Given the description of an element on the screen output the (x, y) to click on. 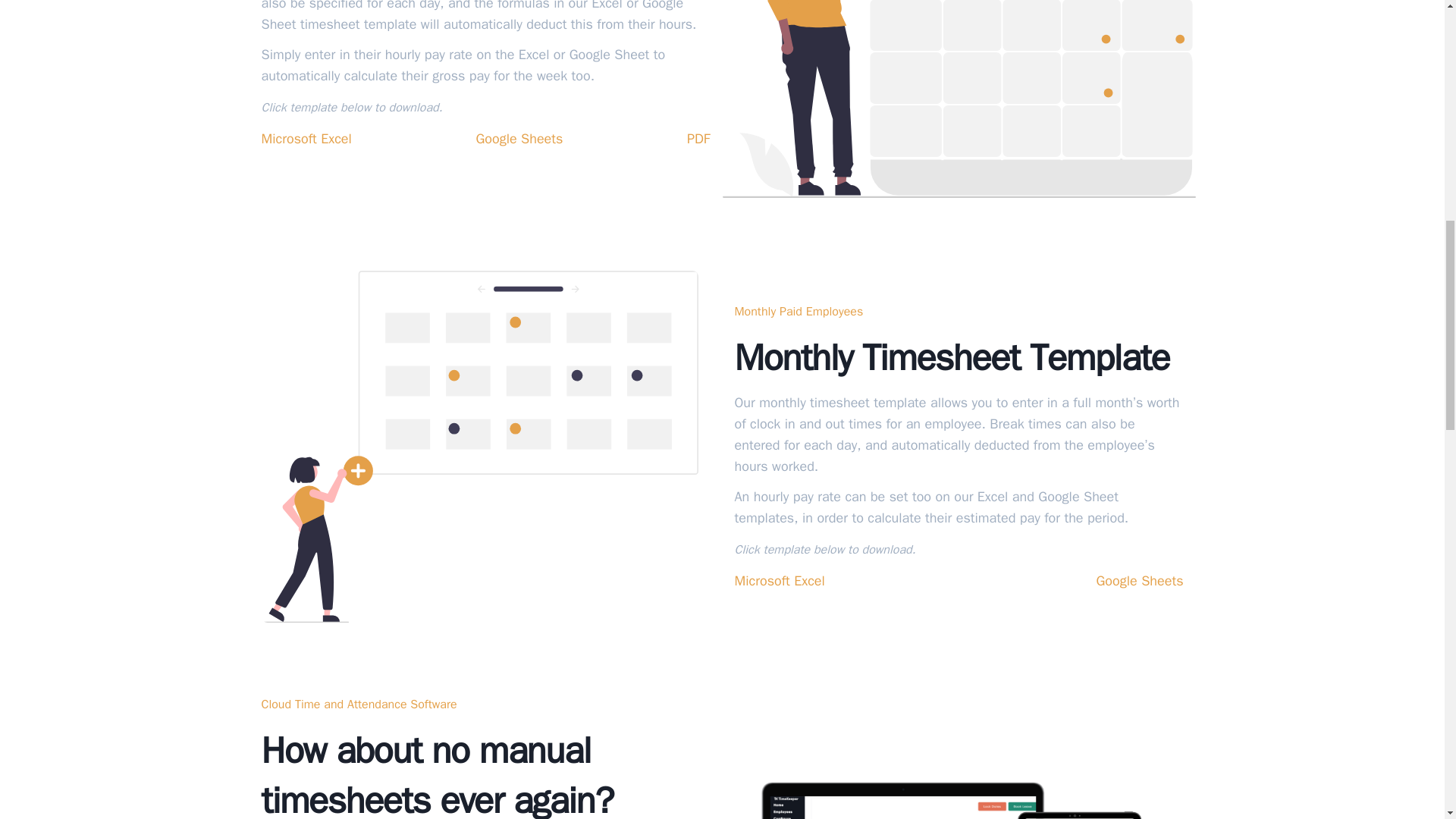
PDF (698, 138)
Google Sheets (1139, 580)
Microsoft Excel (305, 138)
Microsoft Excel (778, 580)
Google Sheets (519, 138)
